Given the description of an element on the screen output the (x, y) to click on. 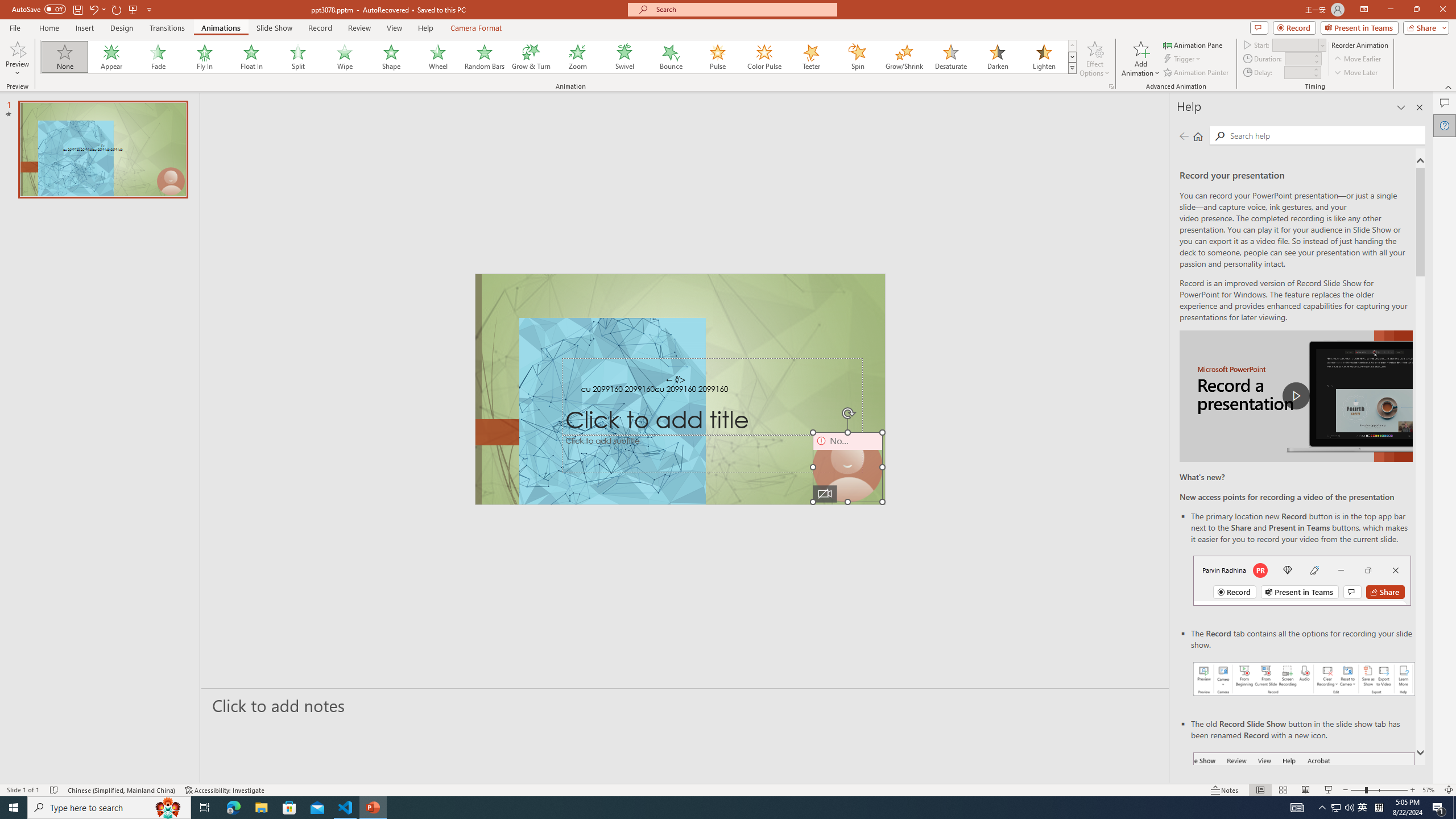
Wipe (344, 56)
Grow & Turn (531, 56)
Color Pulse (764, 56)
Fade (158, 56)
AutomationID: AnimationGallery (558, 56)
